Given the description of an element on the screen output the (x, y) to click on. 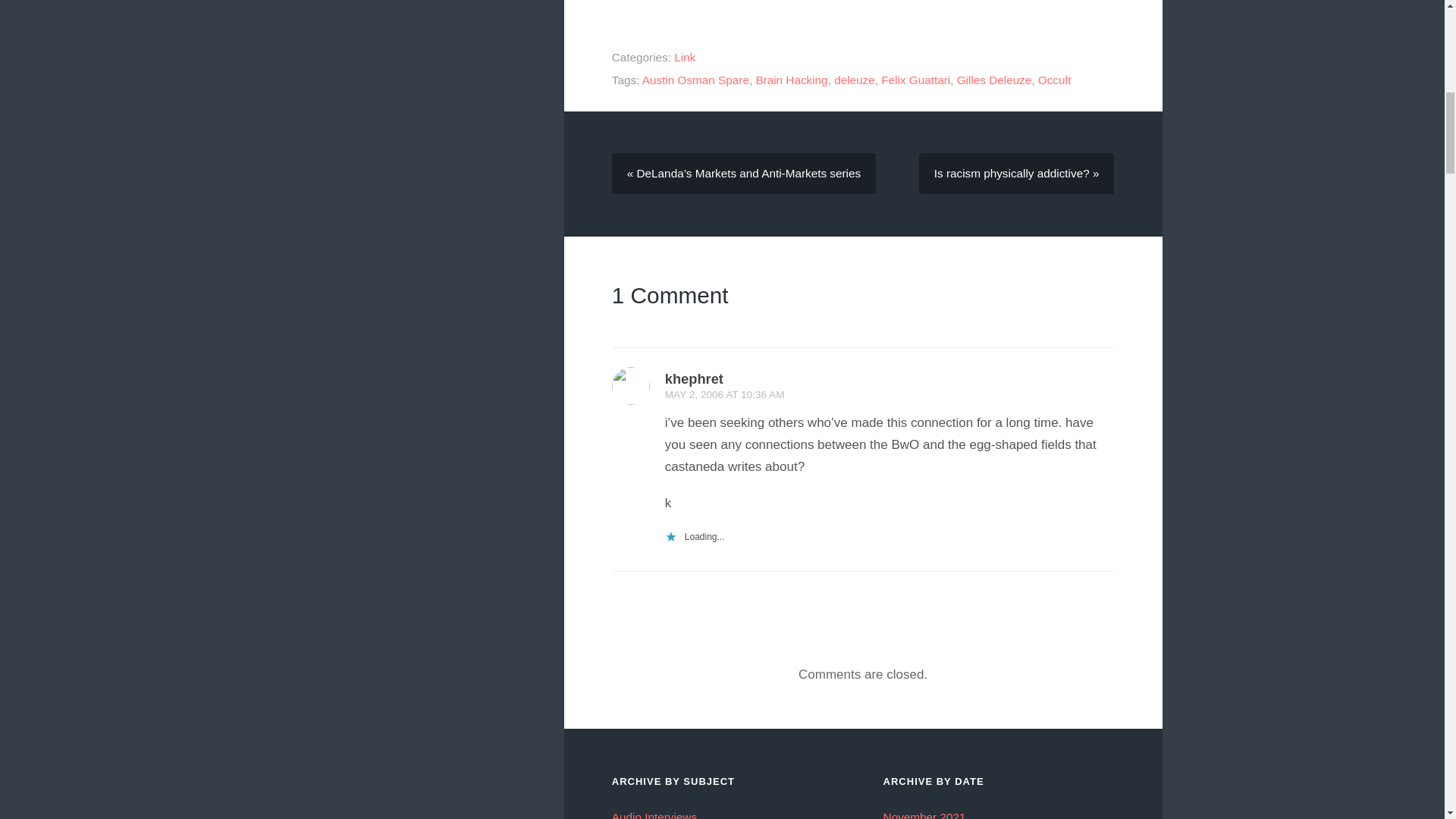
Next post: Is racism physically addictive? (1016, 173)
Gilles Deleuze (994, 79)
Audio Interviews (654, 814)
Occult (1054, 79)
deleuze (854, 79)
Brain Hacking (791, 79)
Felix Guattari (915, 79)
Link (684, 56)
MAY 2, 2006 AT 10:36 AM (724, 394)
Austin Osman Spare (695, 79)
